Given the description of an element on the screen output the (x, y) to click on. 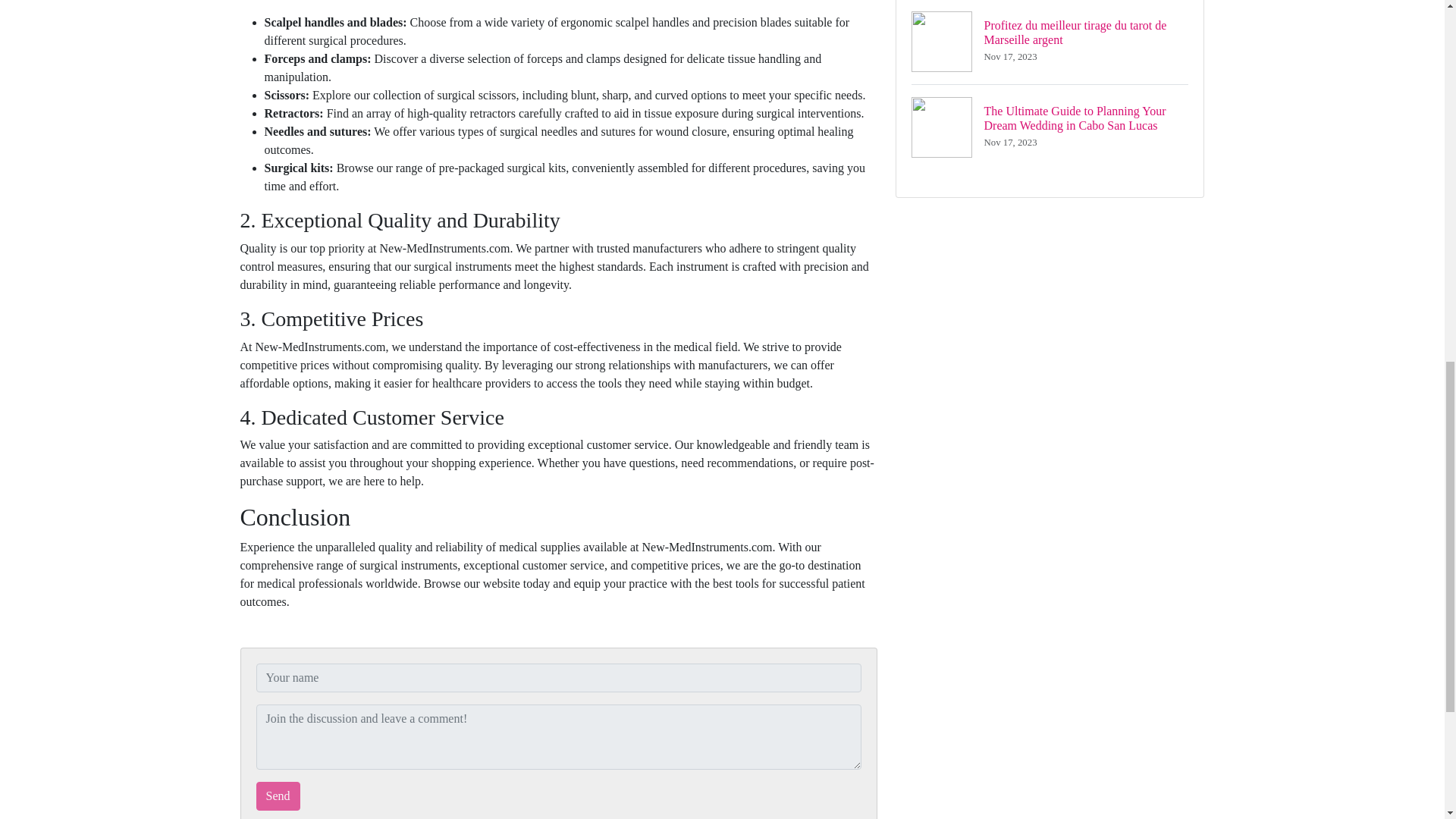
Send (277, 796)
Send (277, 796)
